Given the description of an element on the screen output the (x, y) to click on. 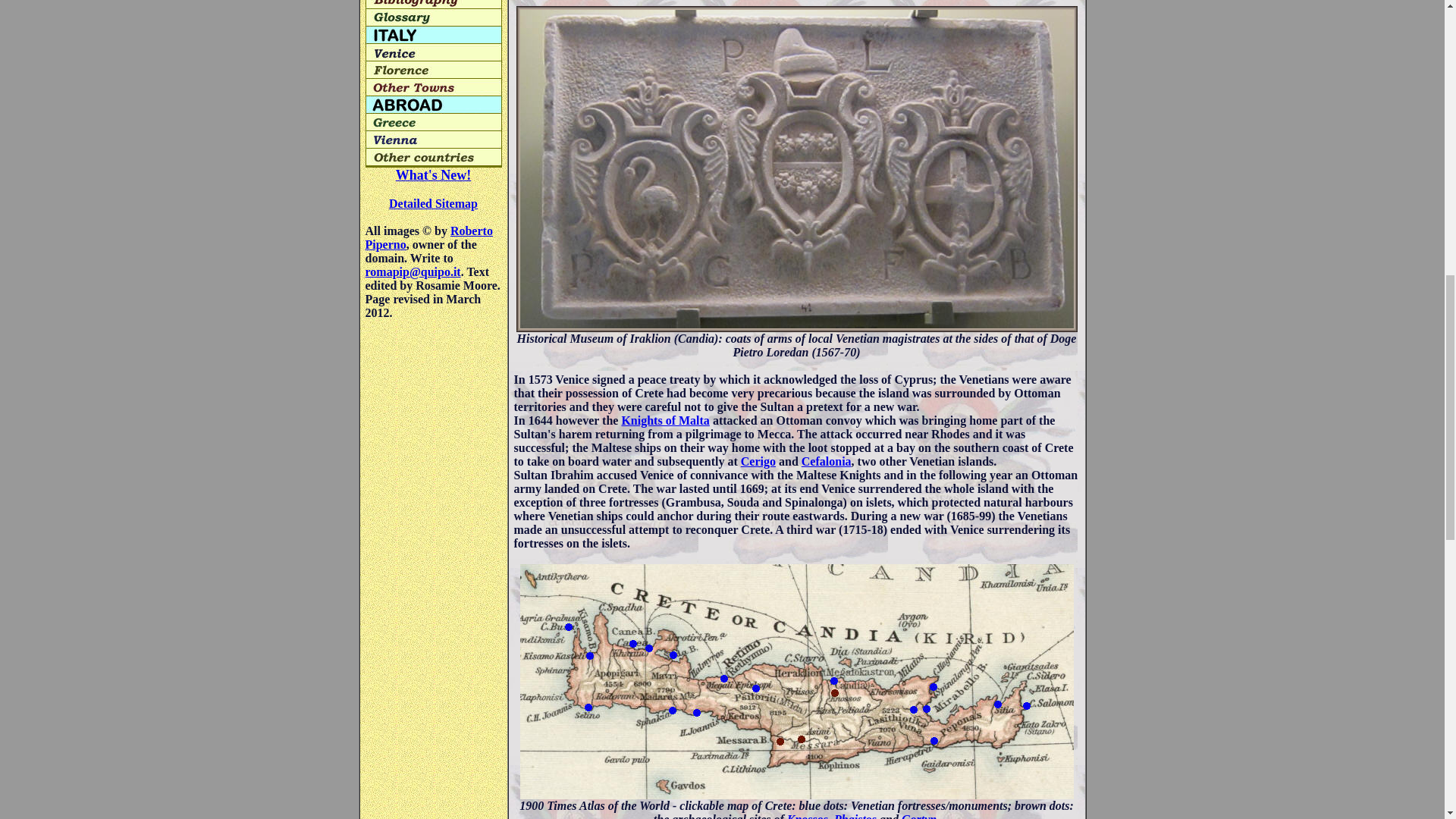
Cefalonia (826, 461)
Knossos (807, 816)
Phaistos (855, 816)
What's New! (433, 174)
Roberto Piperno (429, 237)
Gortyn (918, 816)
Knights of Malta (665, 420)
Detailed Sitemap (432, 203)
Cerigo (758, 461)
